Given the description of an element on the screen output the (x, y) to click on. 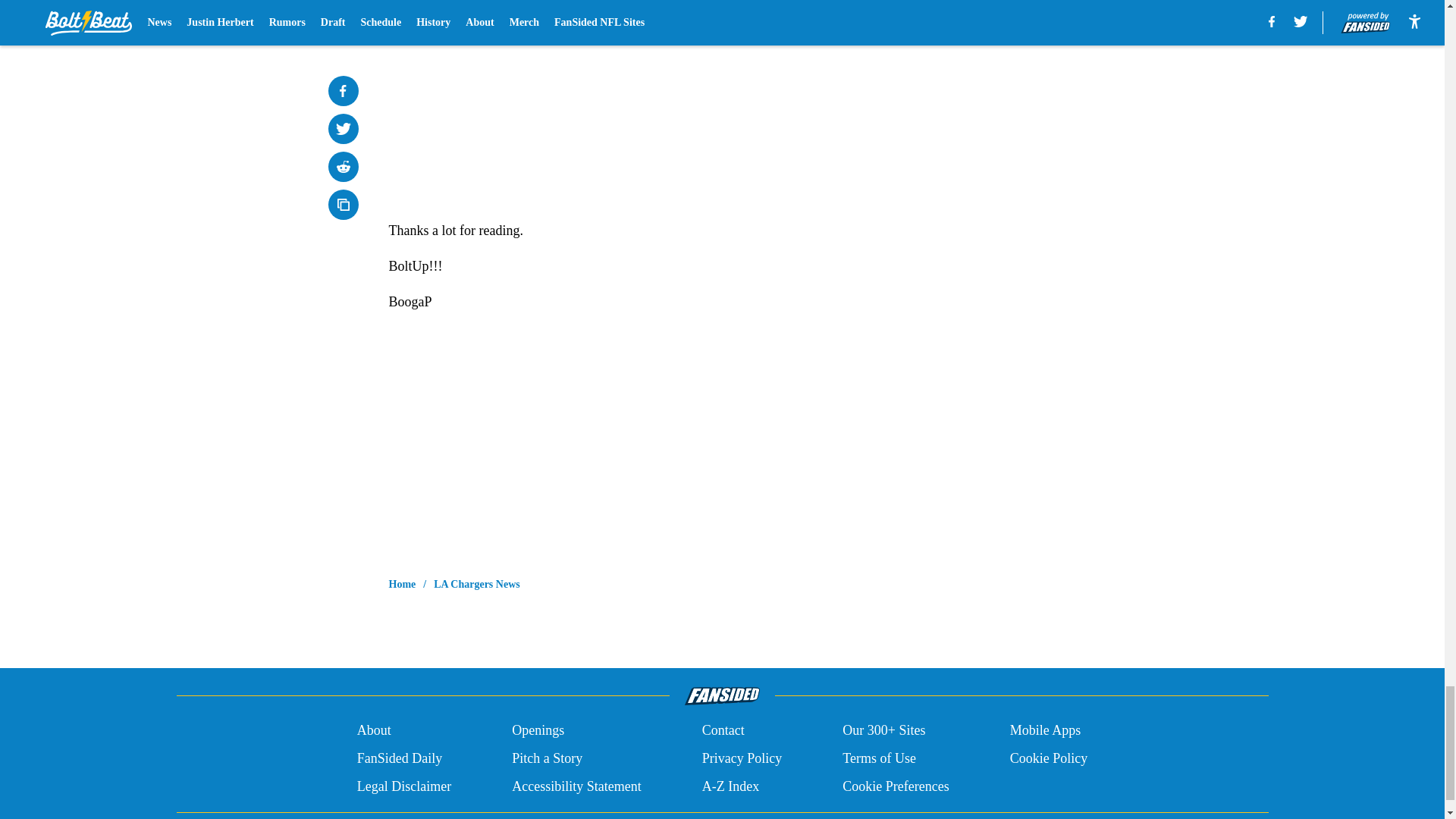
Legal Disclaimer (403, 786)
About (373, 730)
Cookie Policy (1048, 758)
Openings (538, 730)
Mobile Apps (1045, 730)
Terms of Use (879, 758)
FanSided Daily (399, 758)
LA Chargers News (476, 584)
Privacy Policy (742, 758)
Pitch a Story (547, 758)
Accessibility Statement (576, 786)
Contact (722, 730)
Home (401, 584)
